Given the description of an element on the screen output the (x, y) to click on. 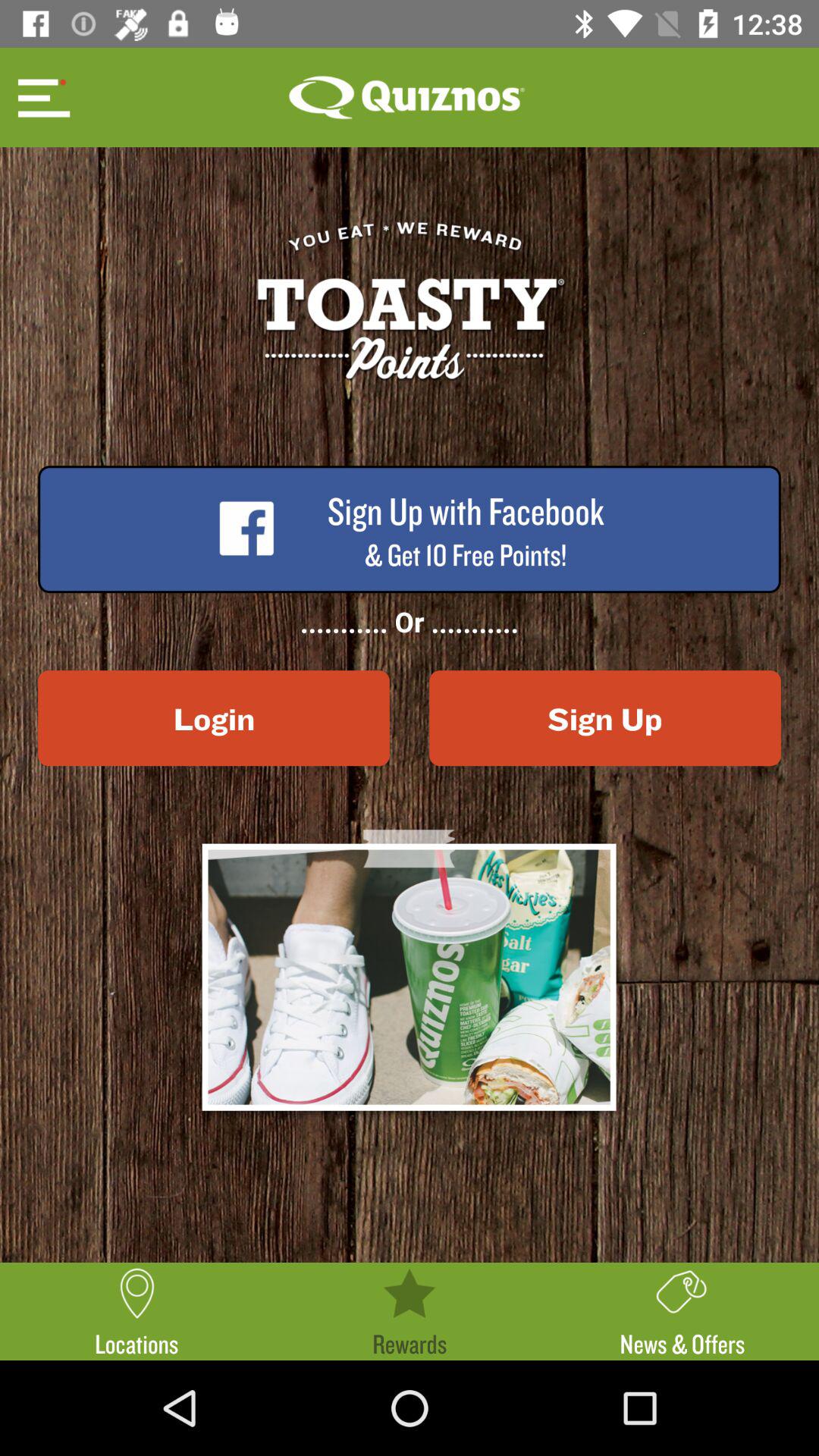
choose item at the top left corner (41, 97)
